Given the description of an element on the screen output the (x, y) to click on. 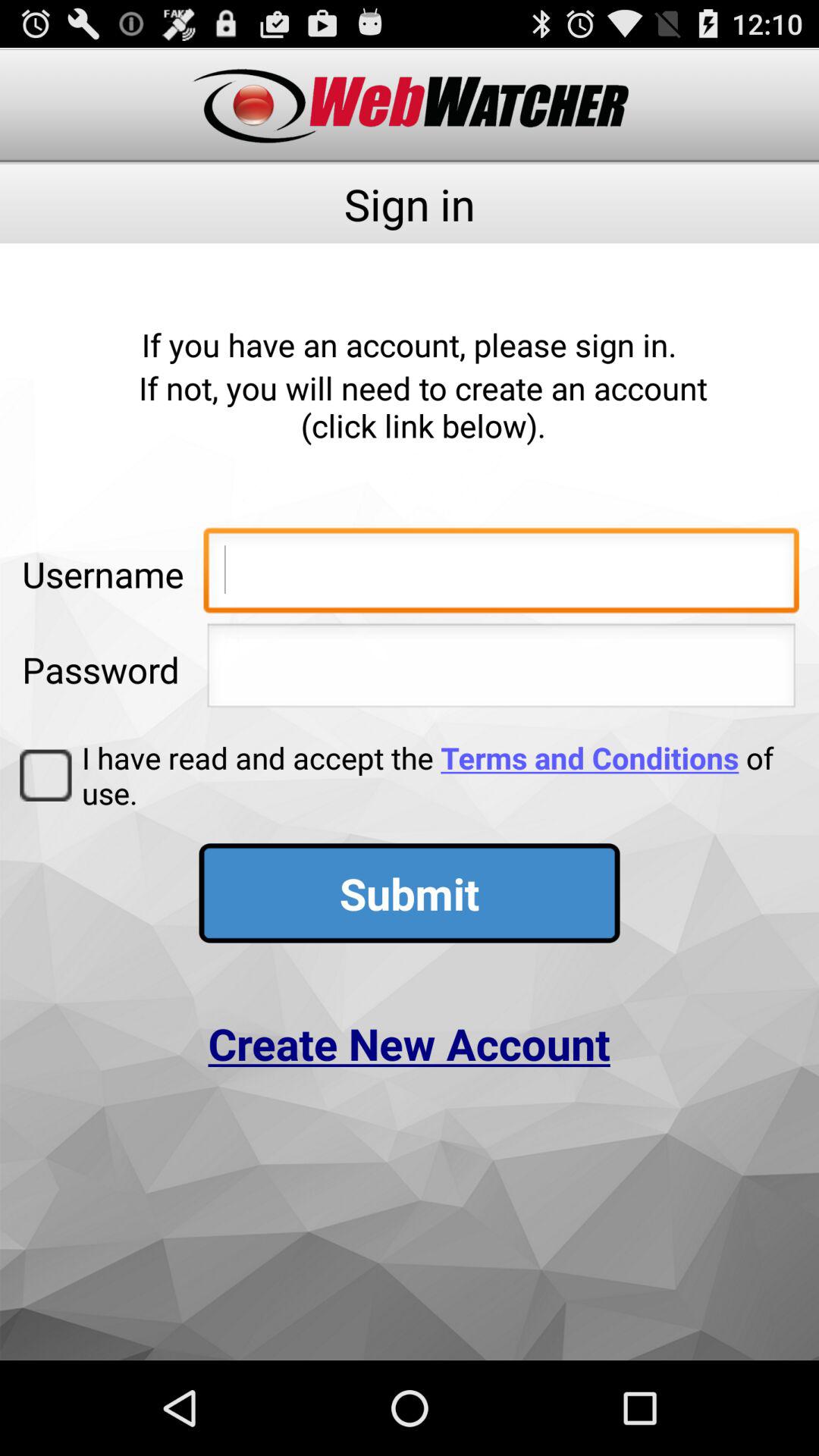
scroll to the i have read app (435, 775)
